Given the description of an element on the screen output the (x, y) to click on. 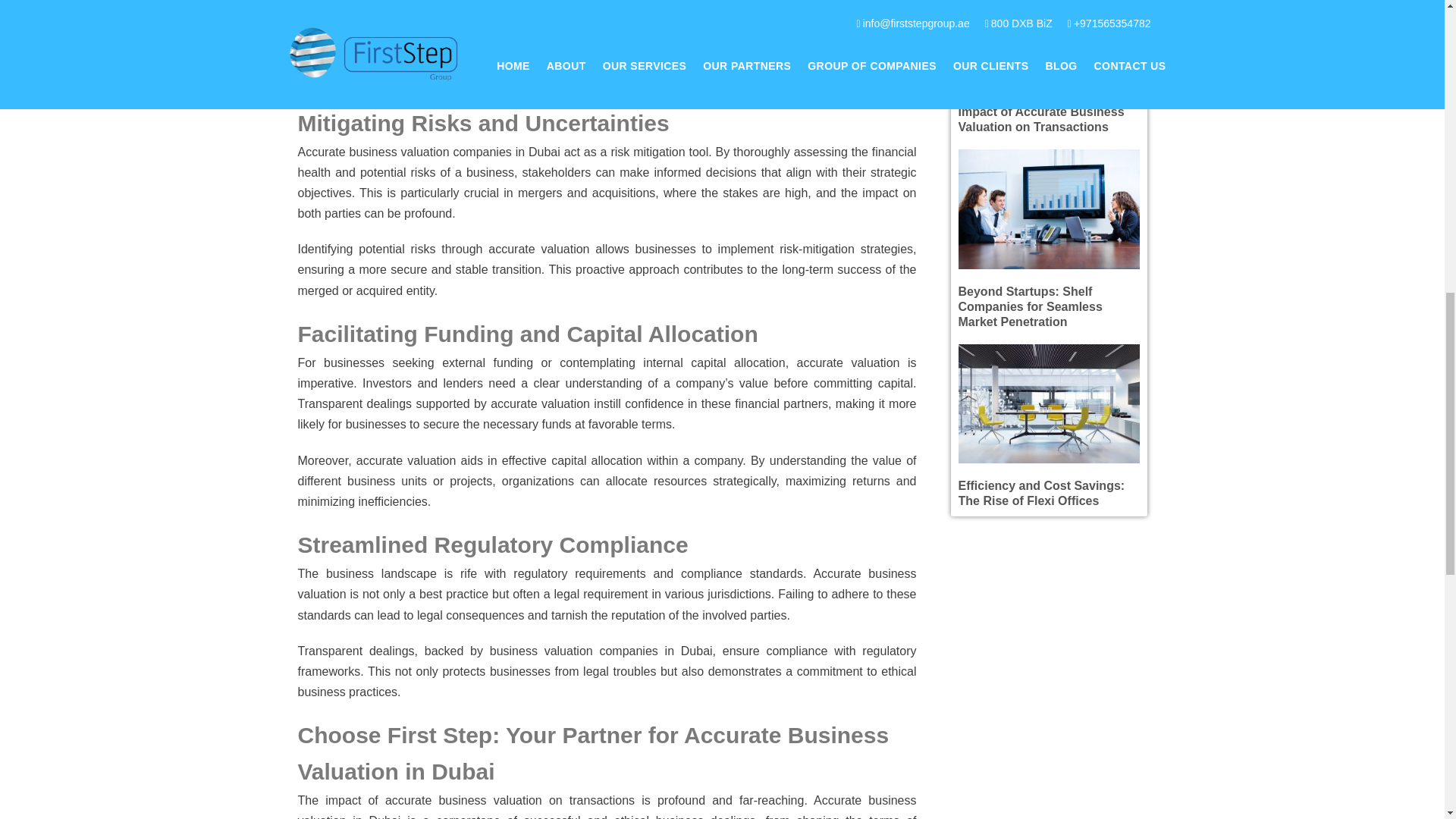
Efficiency and Cost Savings: The Rise of Flexi Offices (1041, 492)
